Given the description of an element on the screen output the (x, y) to click on. 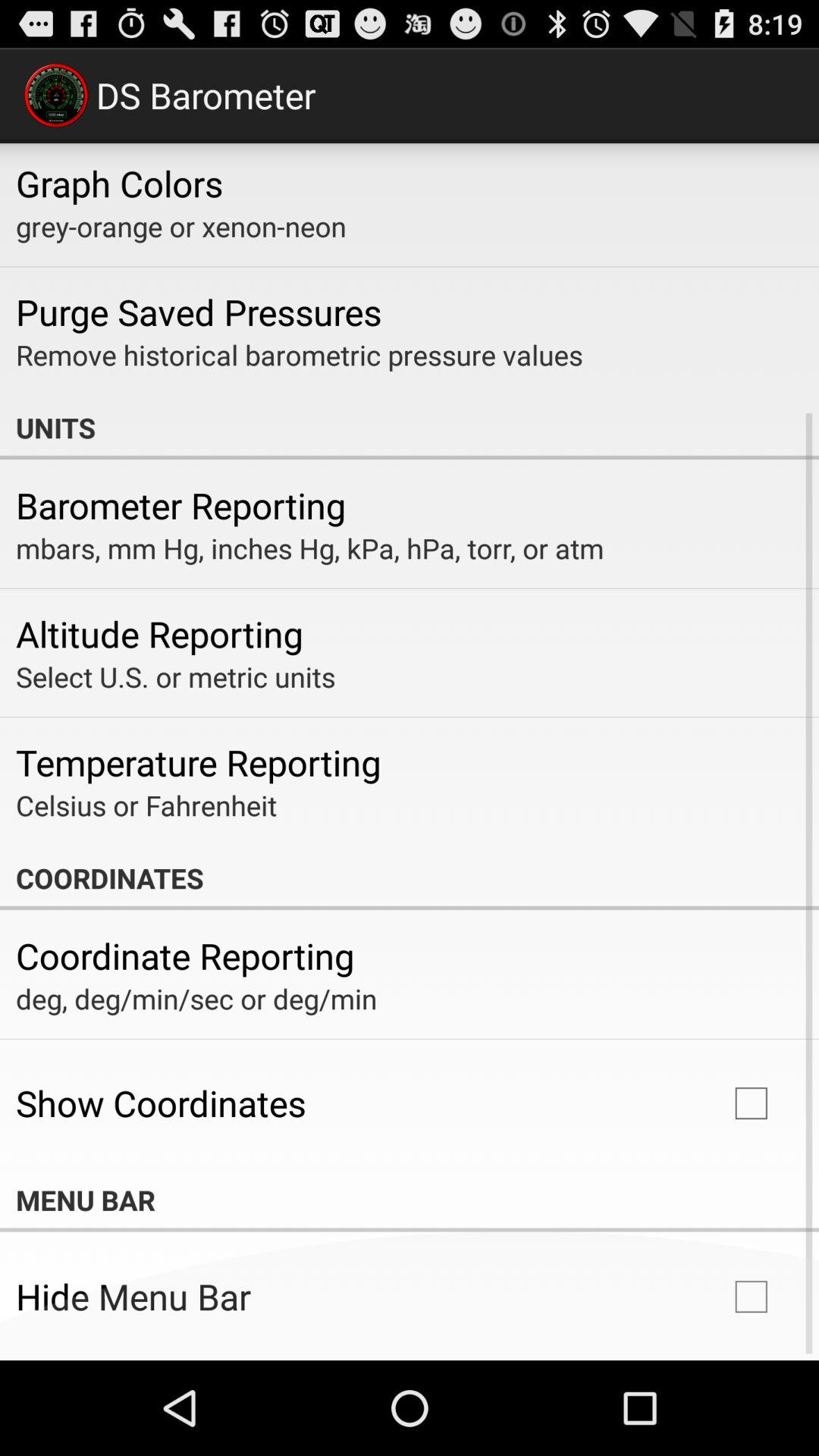
flip until the celsius or fahrenheit (145, 805)
